Given the description of an element on the screen output the (x, y) to click on. 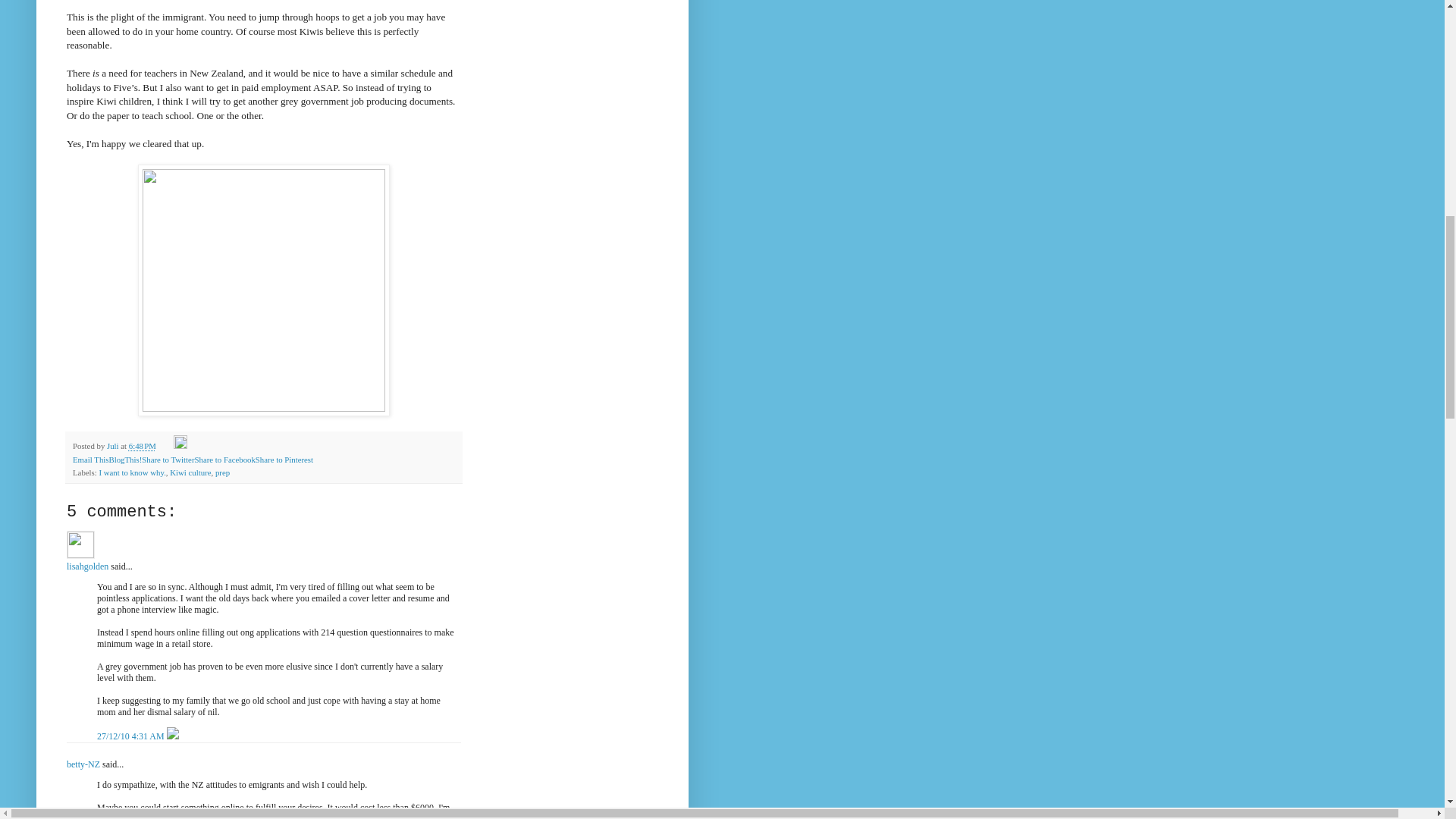
Delete Comment (173, 736)
permanent link (142, 445)
Email Post (166, 445)
Email This (89, 459)
Share to Twitter (167, 459)
lisahgolden (80, 544)
Share to Facebook (223, 459)
Kiwi culture (190, 471)
Share to Pinterest (284, 459)
Edit Post (180, 445)
Email This (89, 459)
I want to know why. (132, 471)
comment permalink (132, 736)
betty-NZ (83, 764)
